Given the description of an element on the screen output the (x, y) to click on. 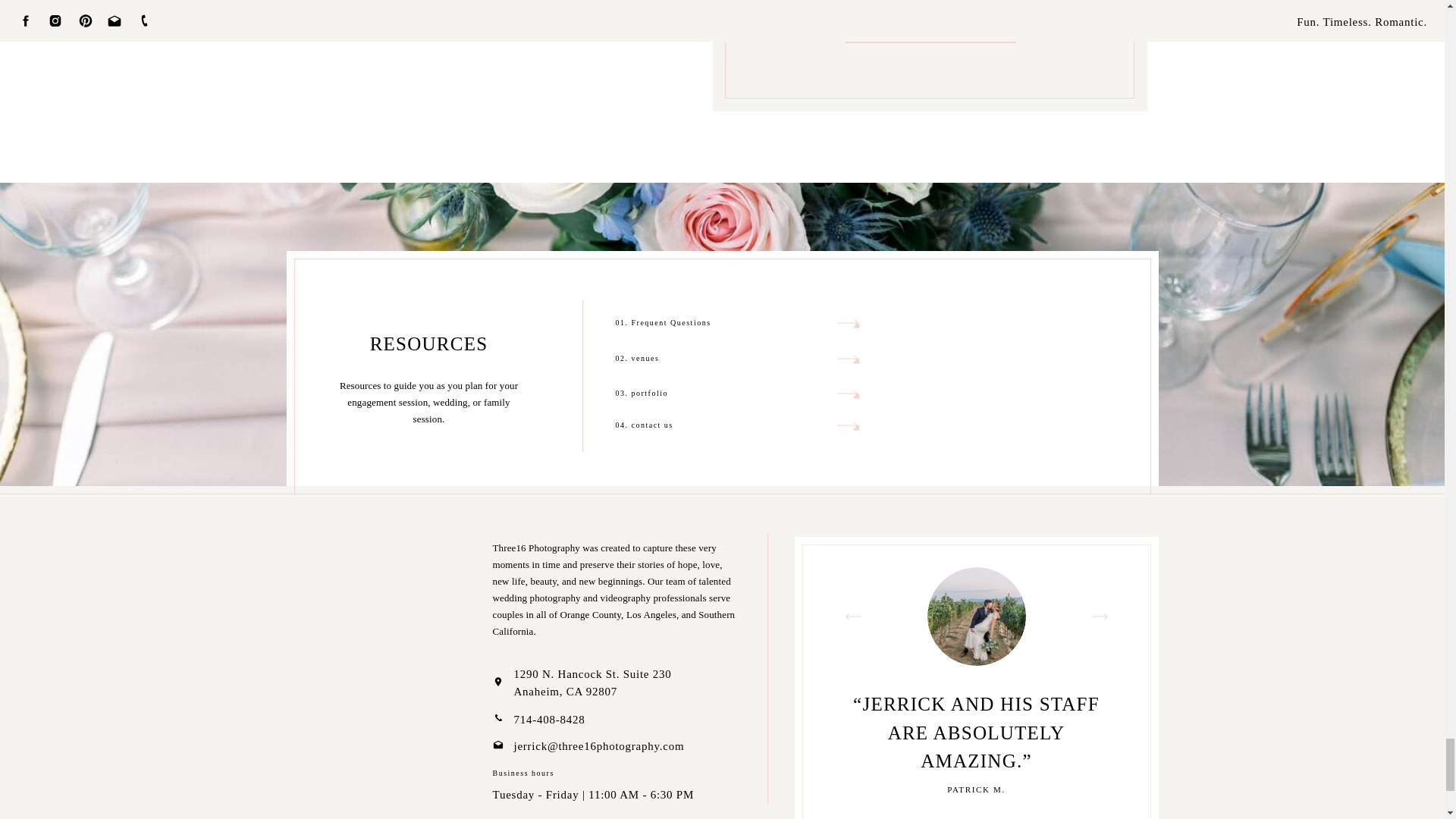
Created by potrace 1.15, written by Peter Selinger 2001-2017 (847, 393)
Created by potrace 1.15, written by Peter Selinger 2001-2017 (847, 358)
Created by potrace 1.15, written by Peter Selinger 2001-2017 (847, 425)
